Given the description of an element on the screen output the (x, y) to click on. 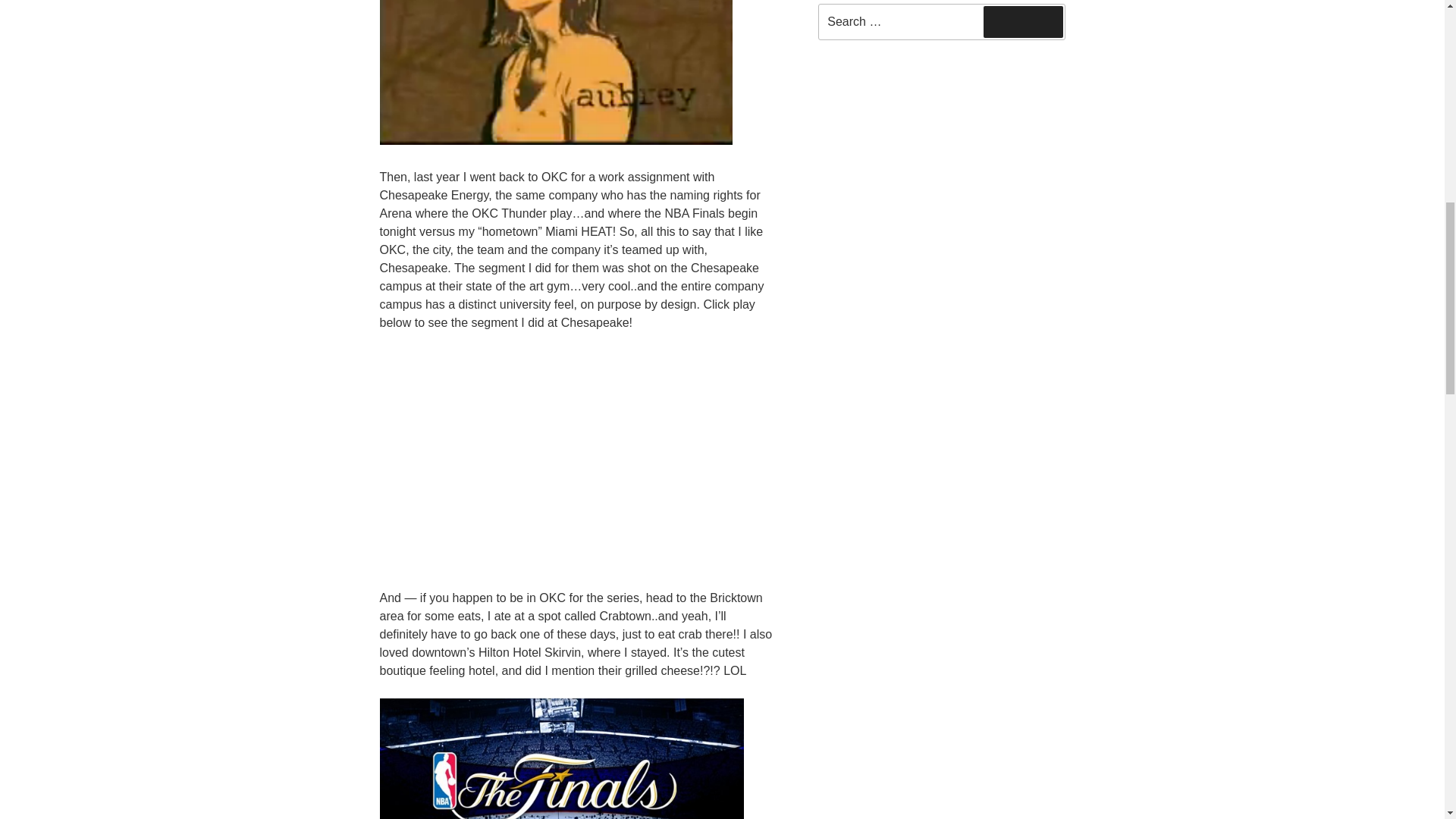
Screen shot 2012-06-12 at 11.04.52 AM (555, 72)
Advertisement (941, 174)
Search (1023, 21)
